Given the description of an element on the screen output the (x, y) to click on. 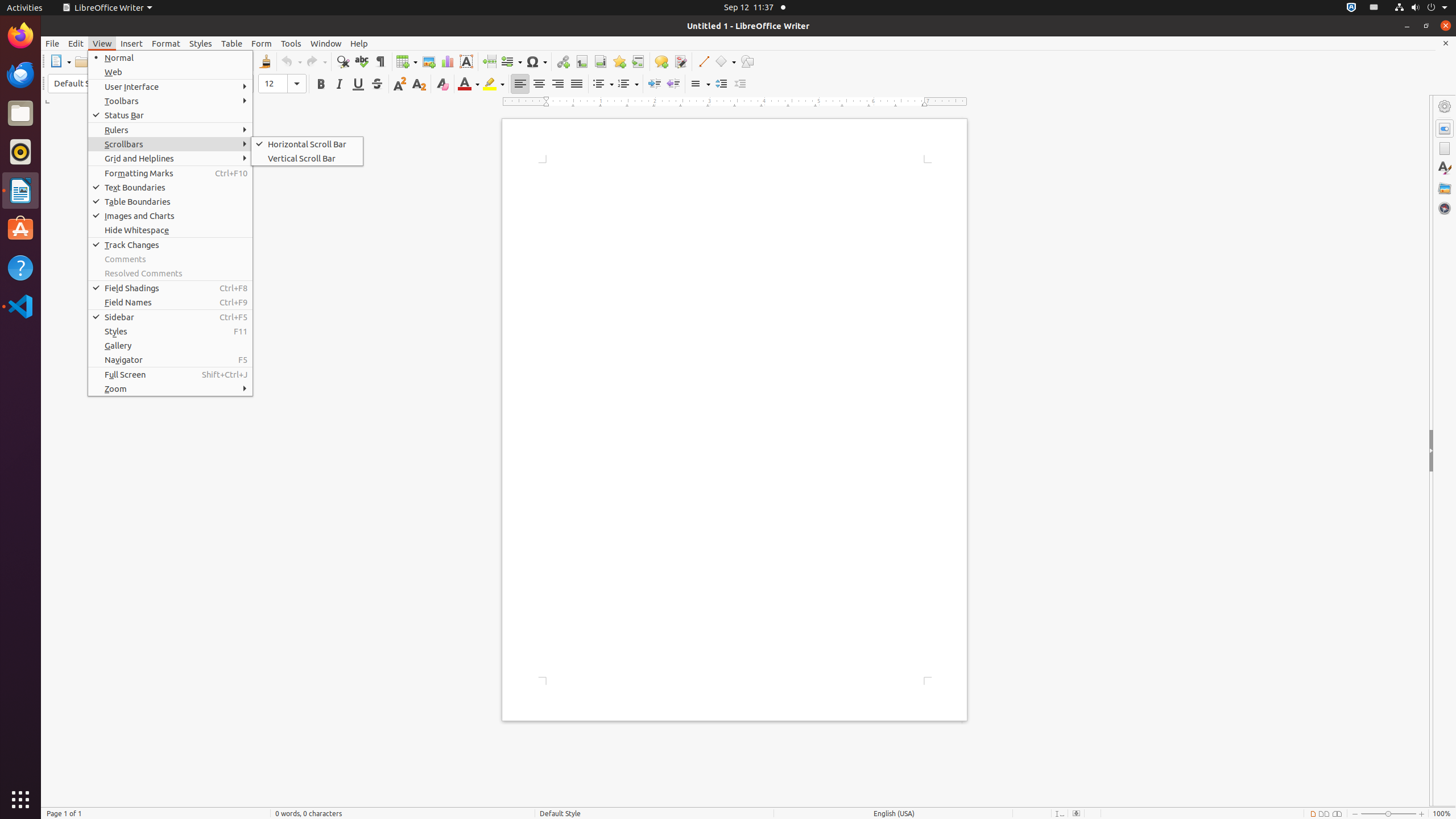
Field Element type: push-button (510, 61)
Rulers Element type: menu (170, 129)
File Element type: menu (51, 43)
Symbol Element type: push-button (535, 61)
Endnote Element type: push-button (599, 61)
